Given the description of an element on the screen output the (x, y) to click on. 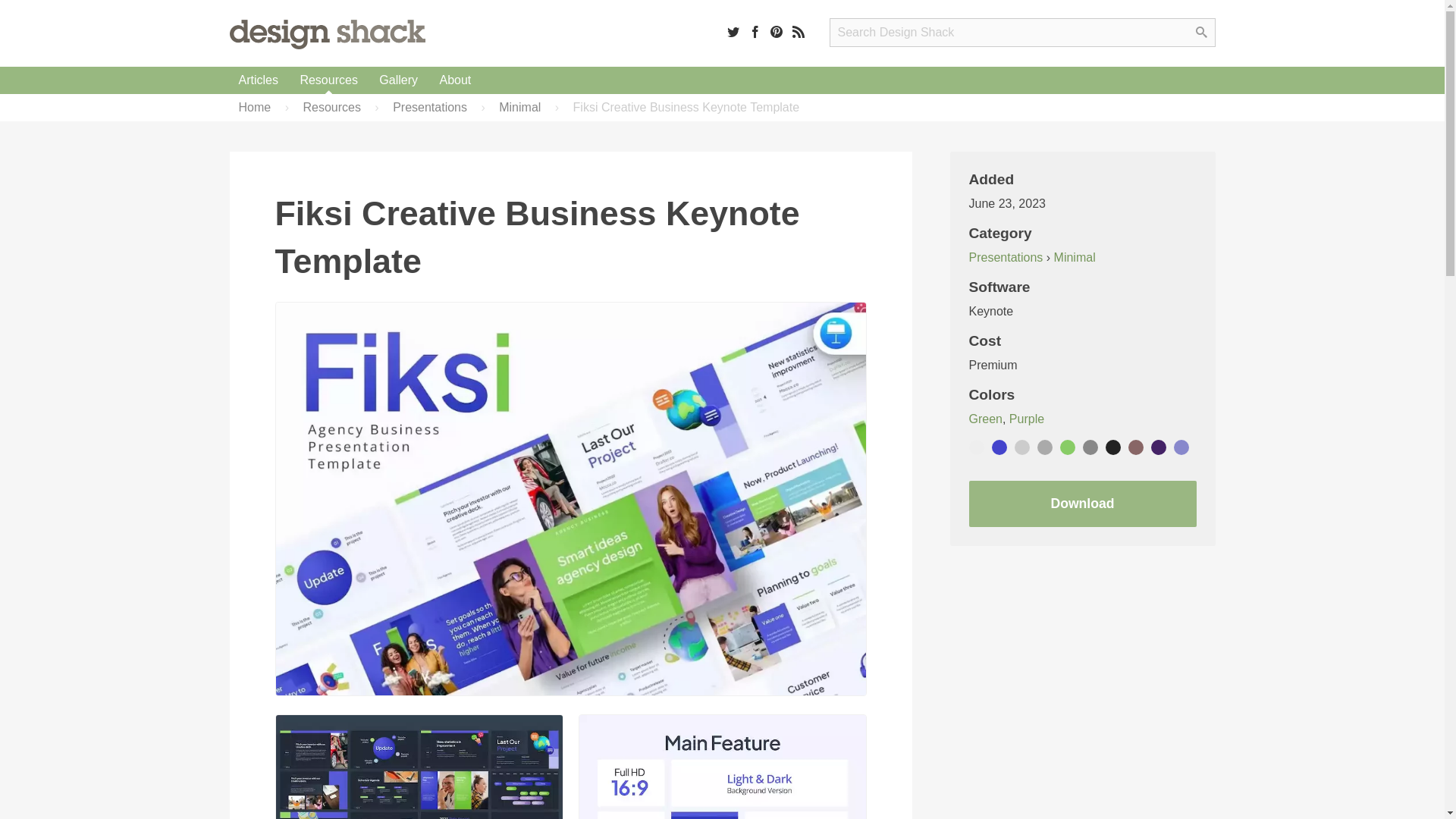
Facebook (755, 31)
Search Design Shack (1022, 32)
Design Shack (326, 34)
Pinterest (776, 31)
Search Design Shack (1022, 32)
Articles (257, 80)
Articles (257, 80)
RSS Feed (797, 31)
